Given the description of an element on the screen output the (x, y) to click on. 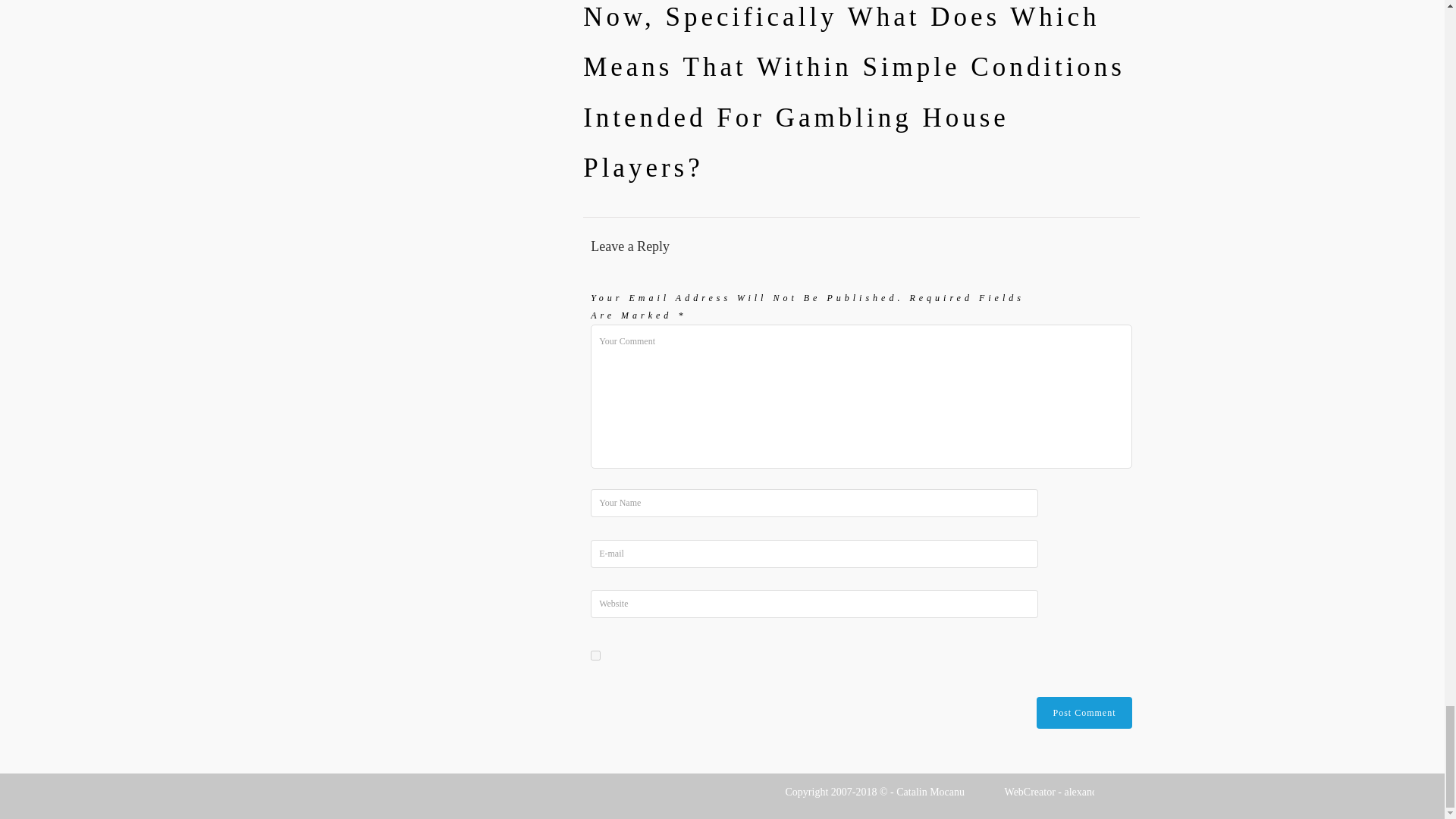
Post Comment (1083, 712)
Post Comment (1083, 712)
yes (595, 655)
